Given the description of an element on the screen output the (x, y) to click on. 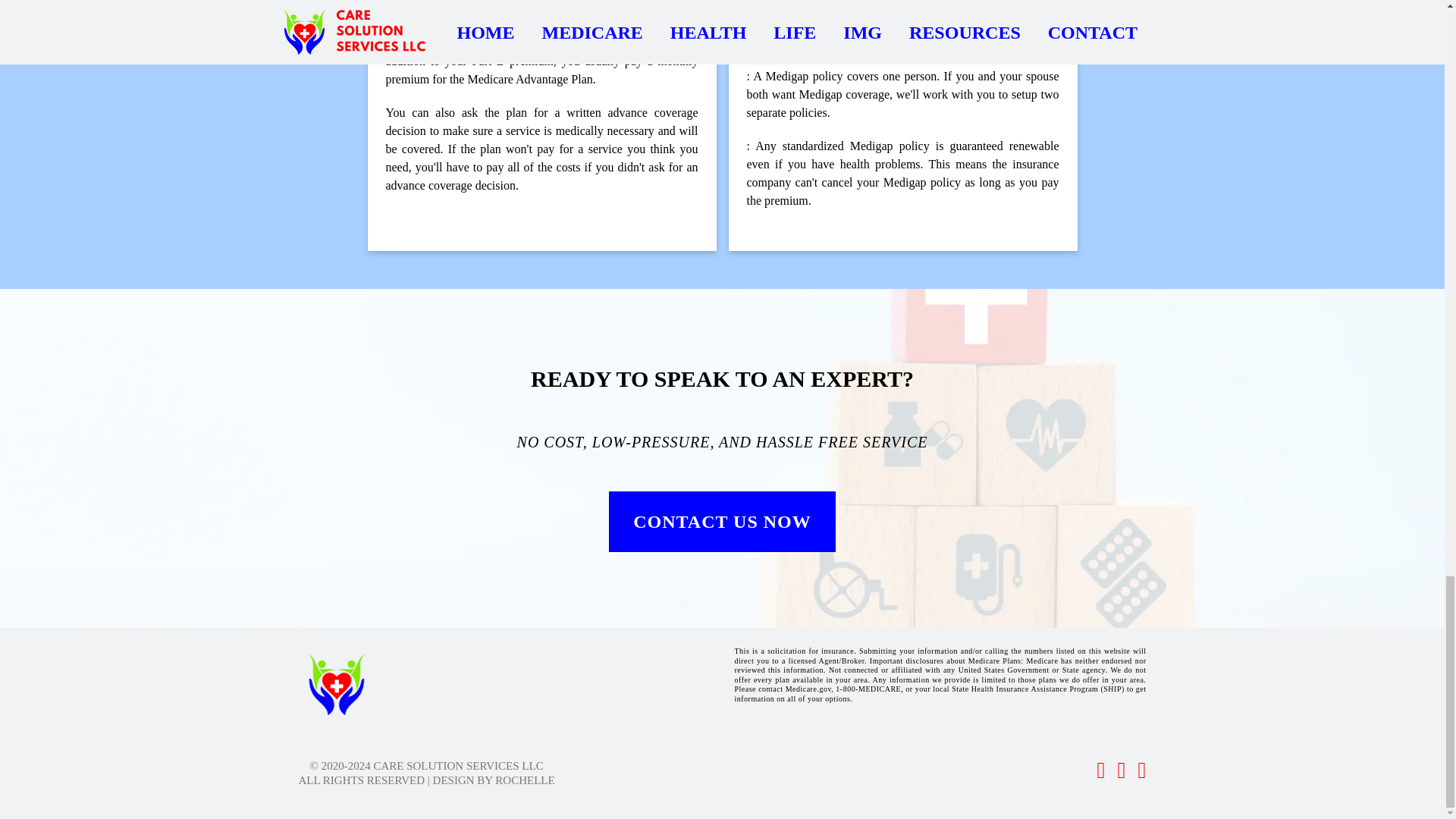
CONTACT US NOW (721, 521)
 DESIGN BY ROCHELLE (491, 779)
